Given the description of an element on the screen output the (x, y) to click on. 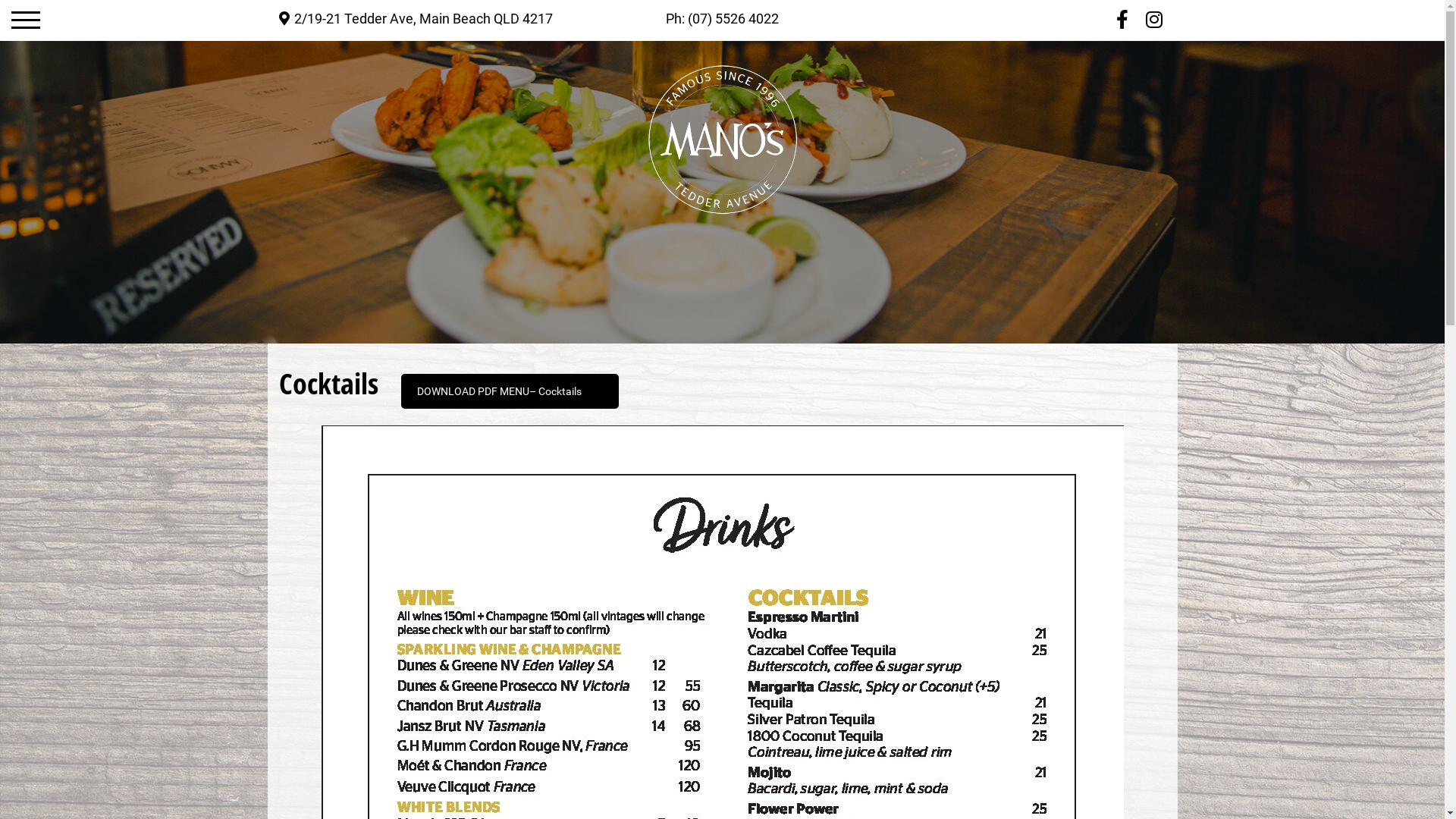
Mano's on Tedder Avenue Element type: hover (721, 139)
Ph: (07) 5526 4022 Element type: text (721, 18)
